Given the description of an element on the screen output the (x, y) to click on. 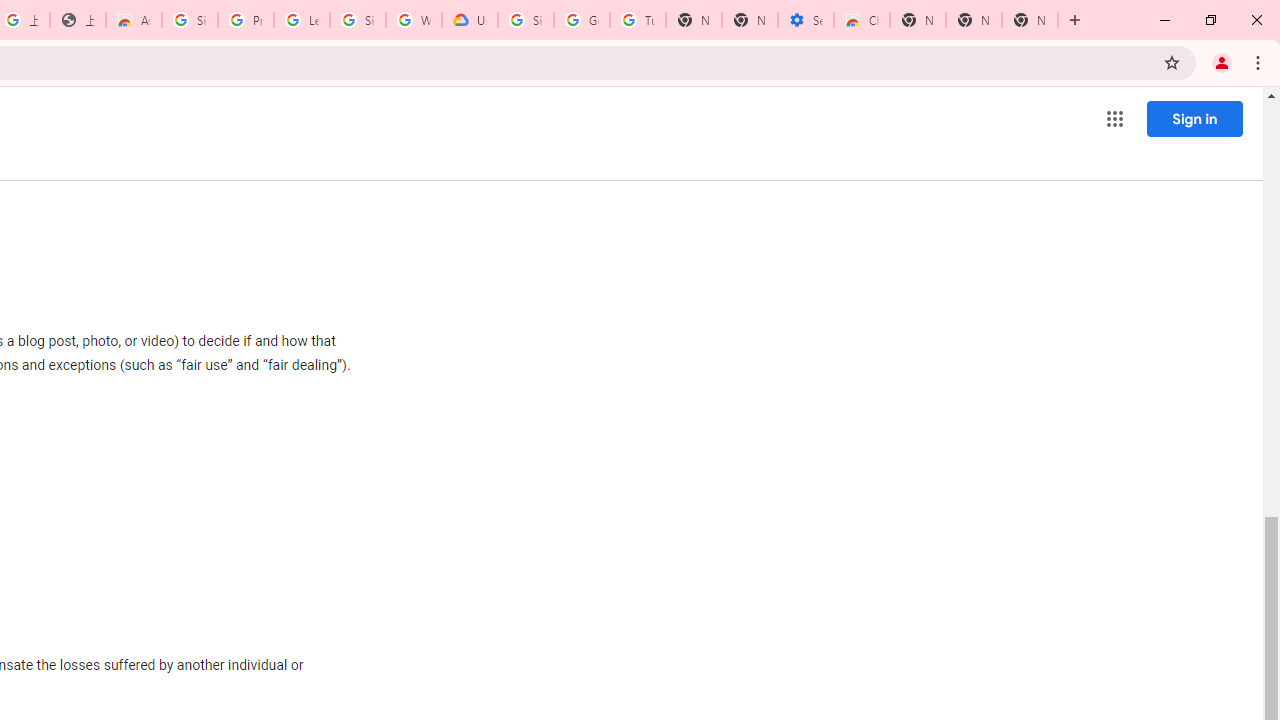
Awesome Screen Recorder & Screenshot - Chrome Web Store (134, 20)
Chrome Web Store - Accessibility extensions (861, 20)
Sign in - Google Accounts (358, 20)
Google Account Help (582, 20)
Sign in - Google Accounts (189, 20)
New Tab (1030, 20)
Who are Google's partners? - Privacy and conditions - Google (413, 20)
Sign in - Google Accounts (525, 20)
